Given the description of an element on the screen output the (x, y) to click on. 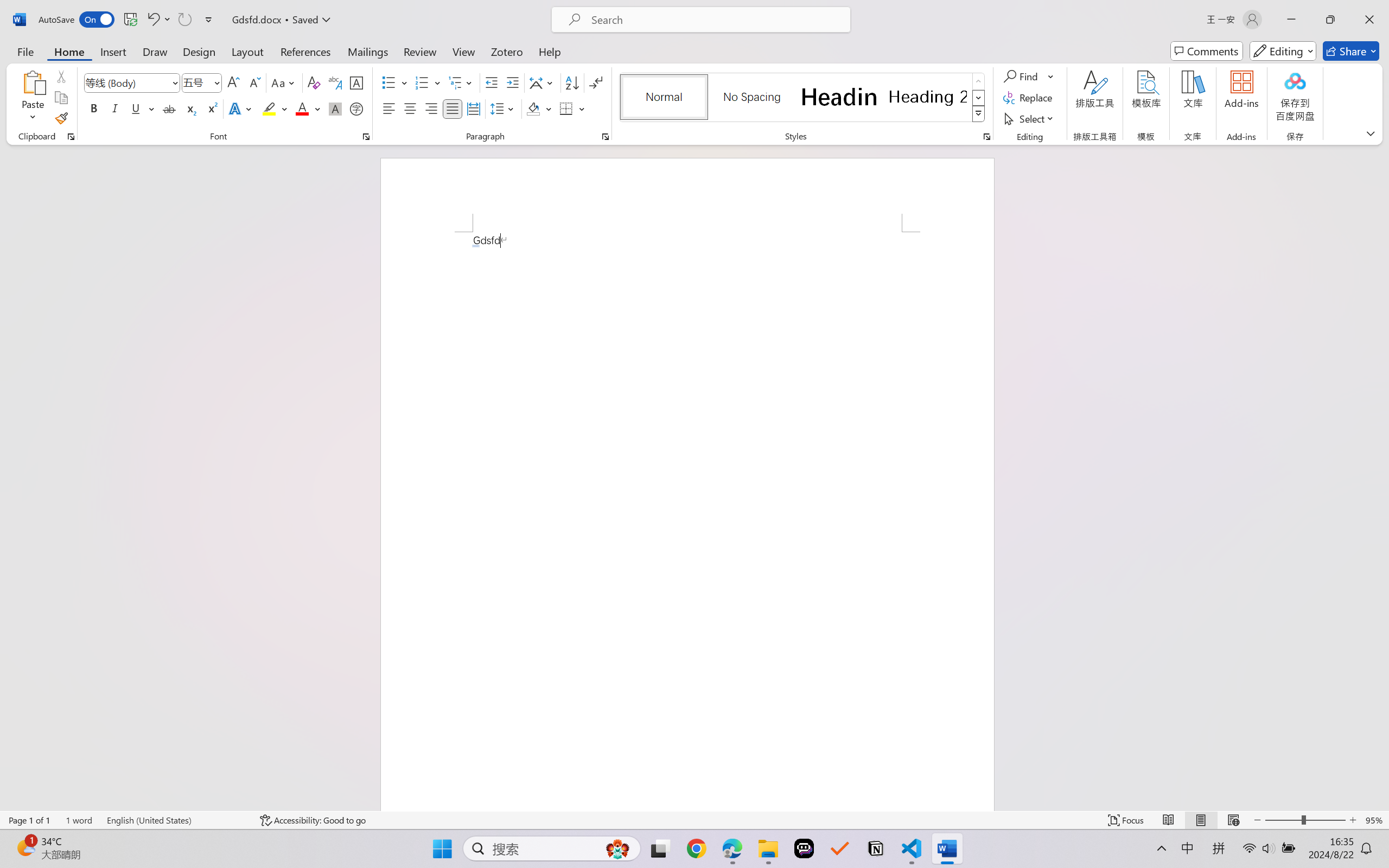
Select (1030, 118)
Phonetic Guide... (334, 82)
